Given the description of an element on the screen output the (x, y) to click on. 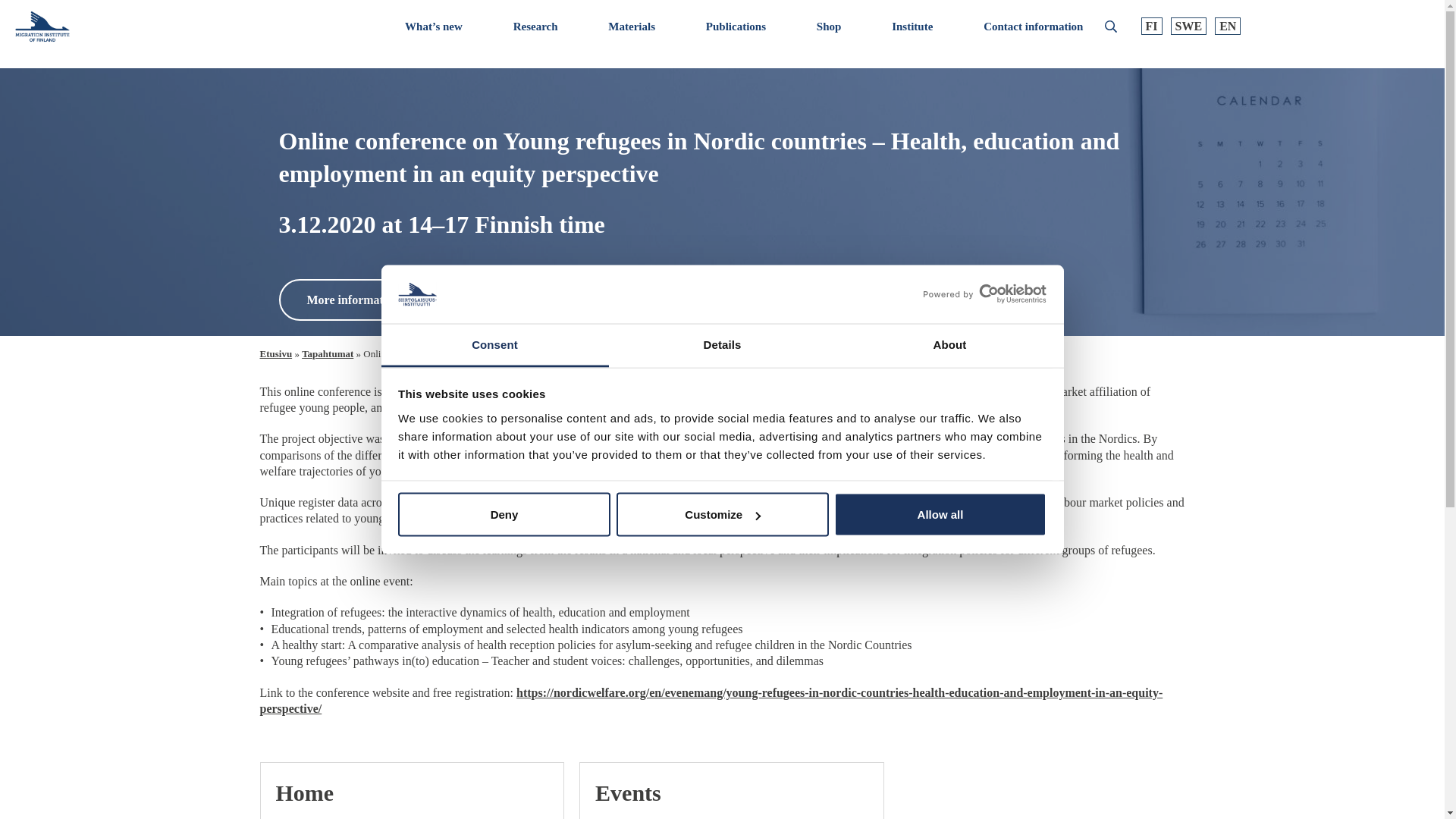
Customize (721, 515)
About (948, 344)
Details (721, 344)
Deny (503, 515)
Allow all (940, 515)
Consent (494, 344)
